Given the description of an element on the screen output the (x, y) to click on. 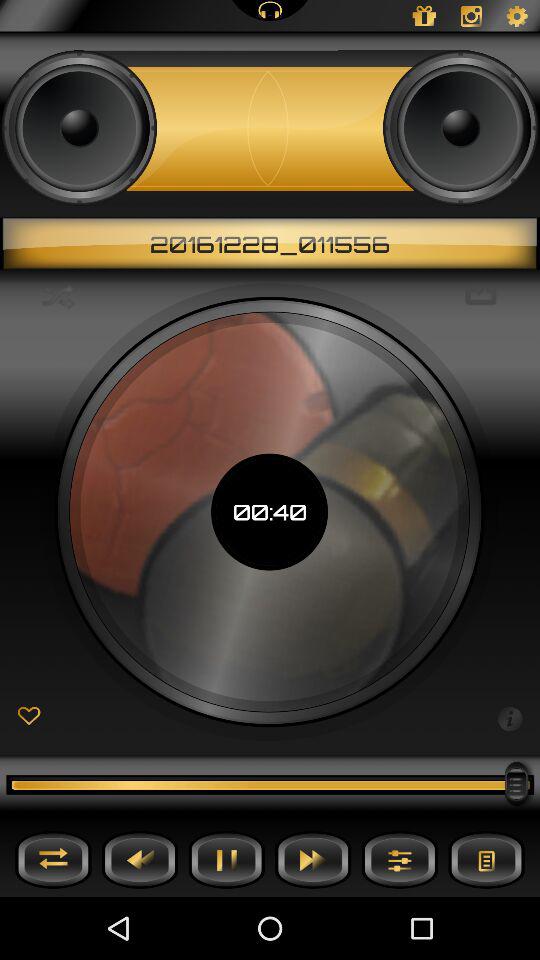
pause current song (226, 859)
